Given the description of an element on the screen output the (x, y) to click on. 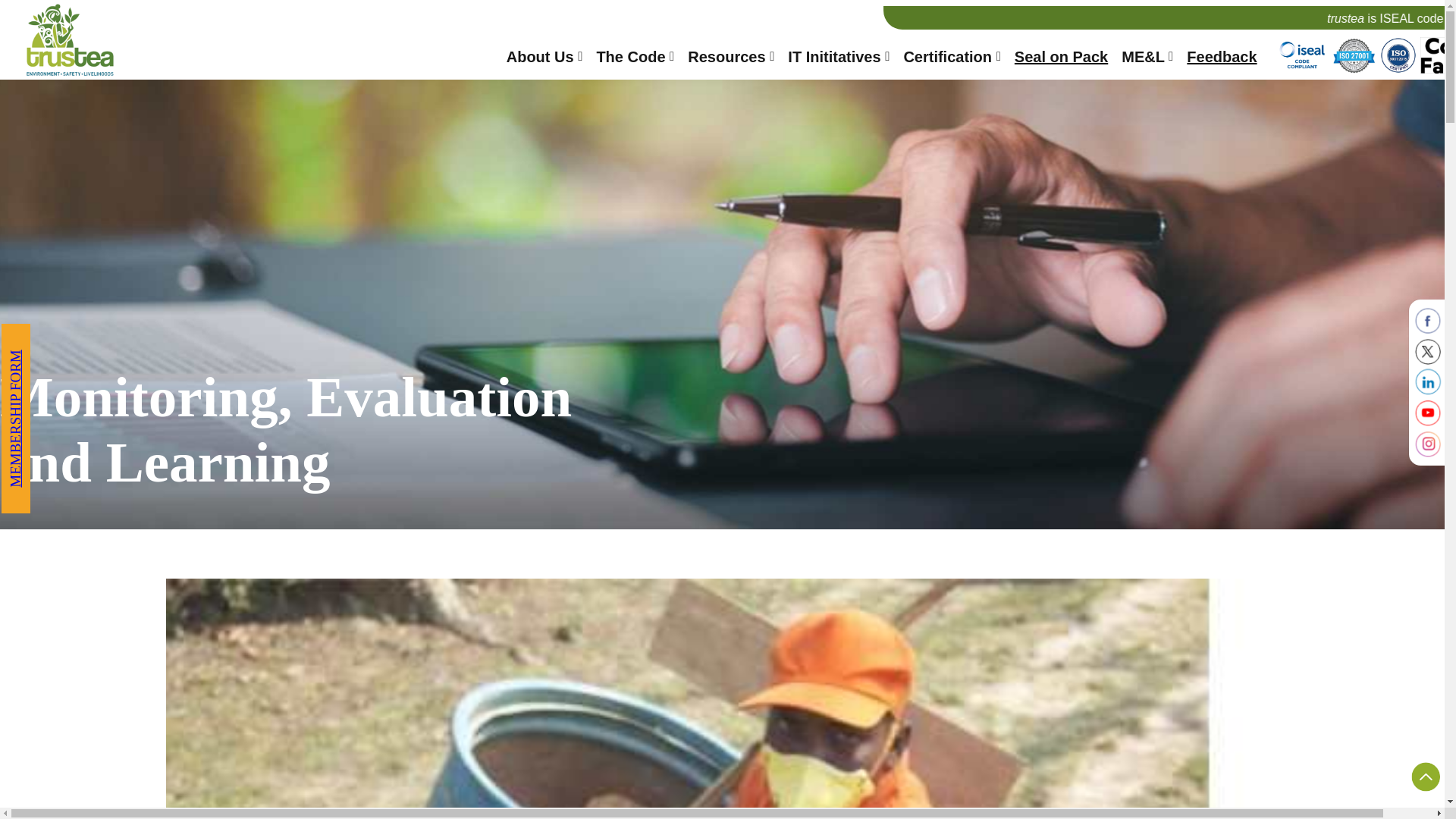
Resources (730, 61)
Twiter (1428, 351)
IT Inititatives (838, 61)
Linkdin (1428, 382)
Certification (951, 61)
Feedback (1221, 61)
Youtube (1428, 412)
About Us (544, 61)
Seal on Pack (1061, 61)
Facebook (1428, 320)
The Code (634, 61)
Instagram (1428, 444)
